Given the description of an element on the screen output the (x, y) to click on. 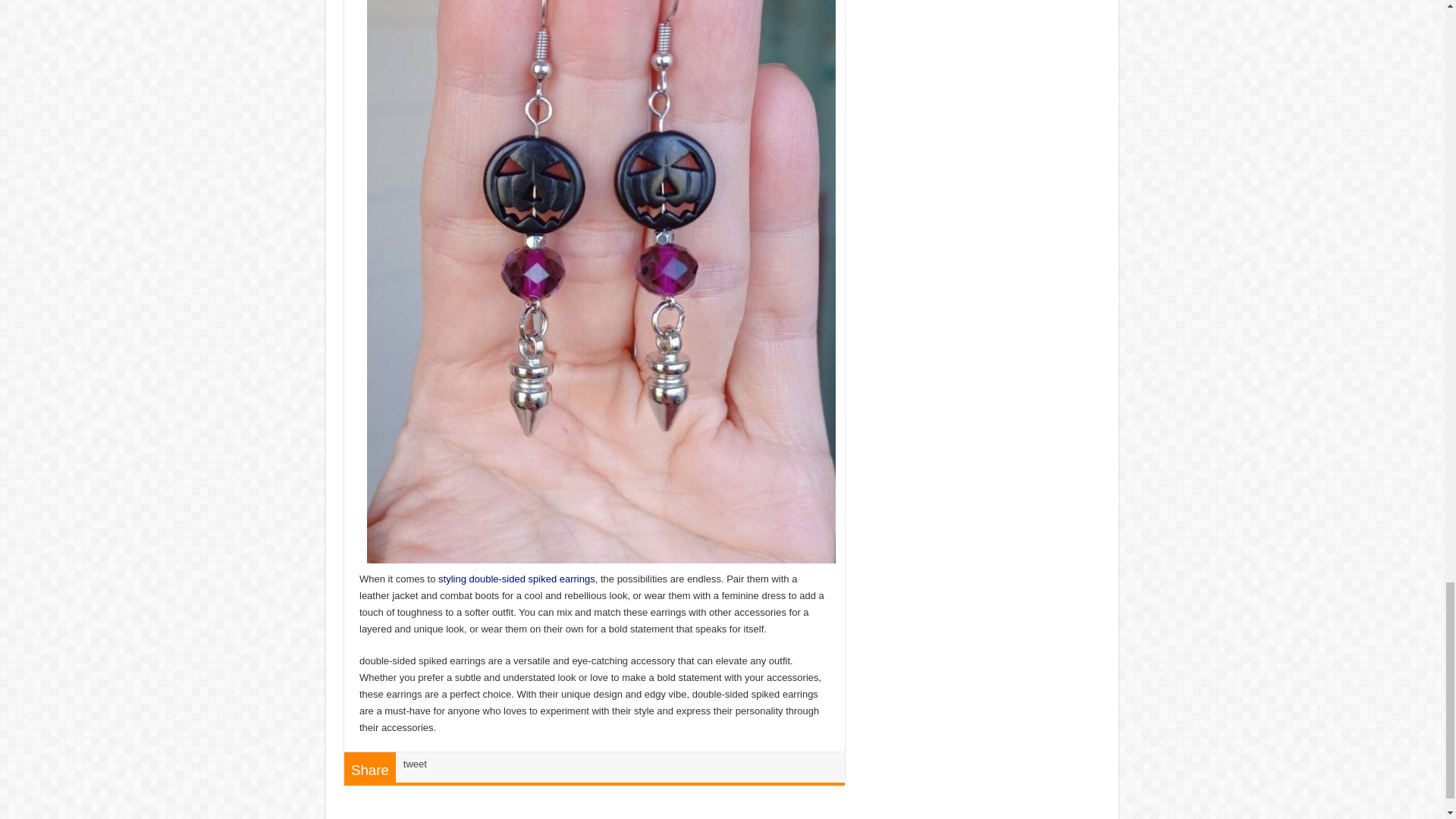
Experimenting with Double-Sided Spiked Earrings (516, 578)
styling double-sided spiked earrings (516, 578)
The Fashionable Trend of Double-Sided Spiked Earrings (600, 243)
tweet (414, 763)
